Given the description of an element on the screen output the (x, y) to click on. 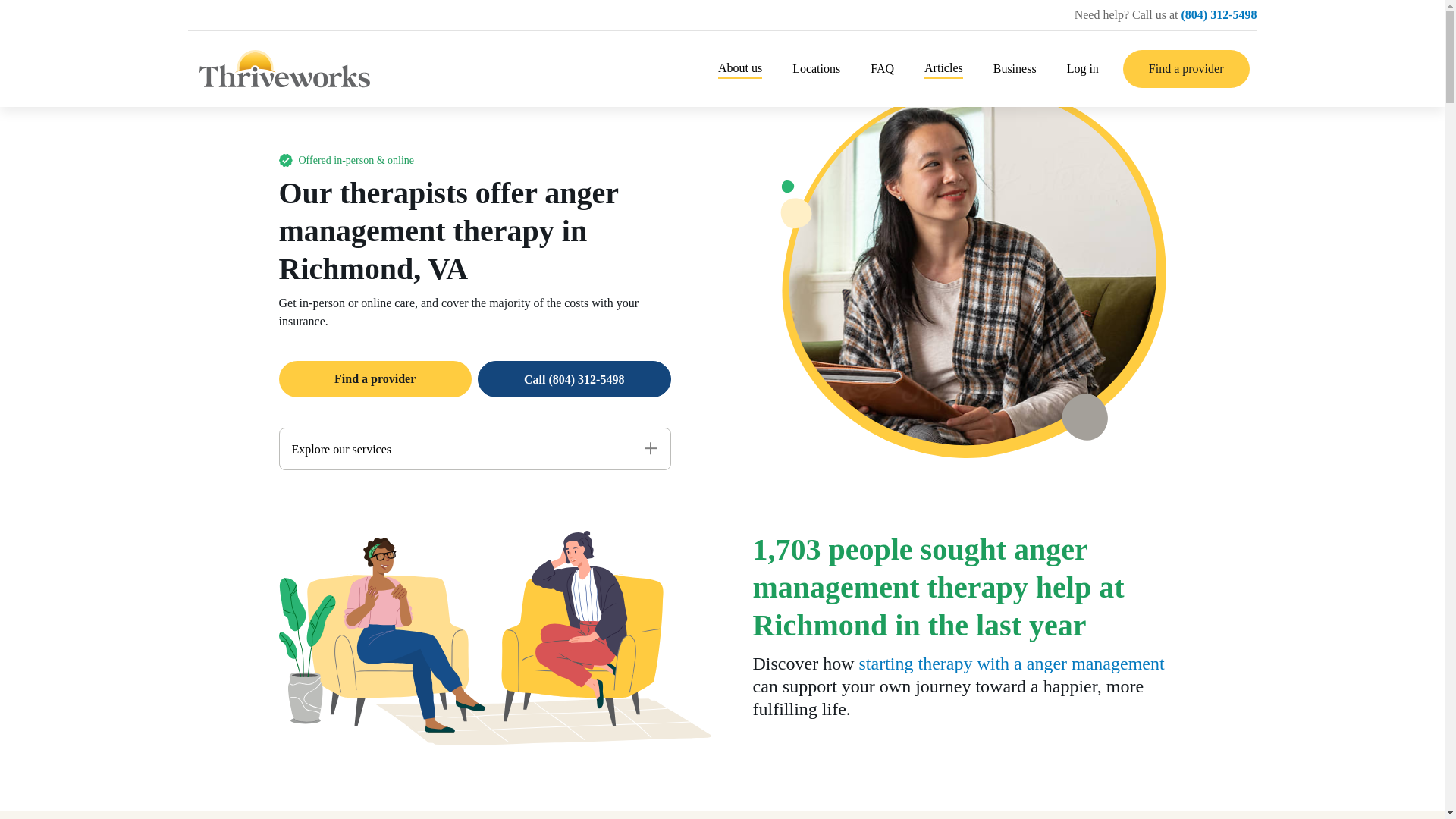
Log in (1082, 67)
Locations (815, 67)
FAQ (882, 67)
About us (739, 68)
FAQ (882, 67)
Articles (943, 68)
Locations (815, 67)
Articles (943, 68)
About us (739, 68)
Business (1014, 67)
Find a provider (1185, 68)
